Given the description of an element on the screen output the (x, y) to click on. 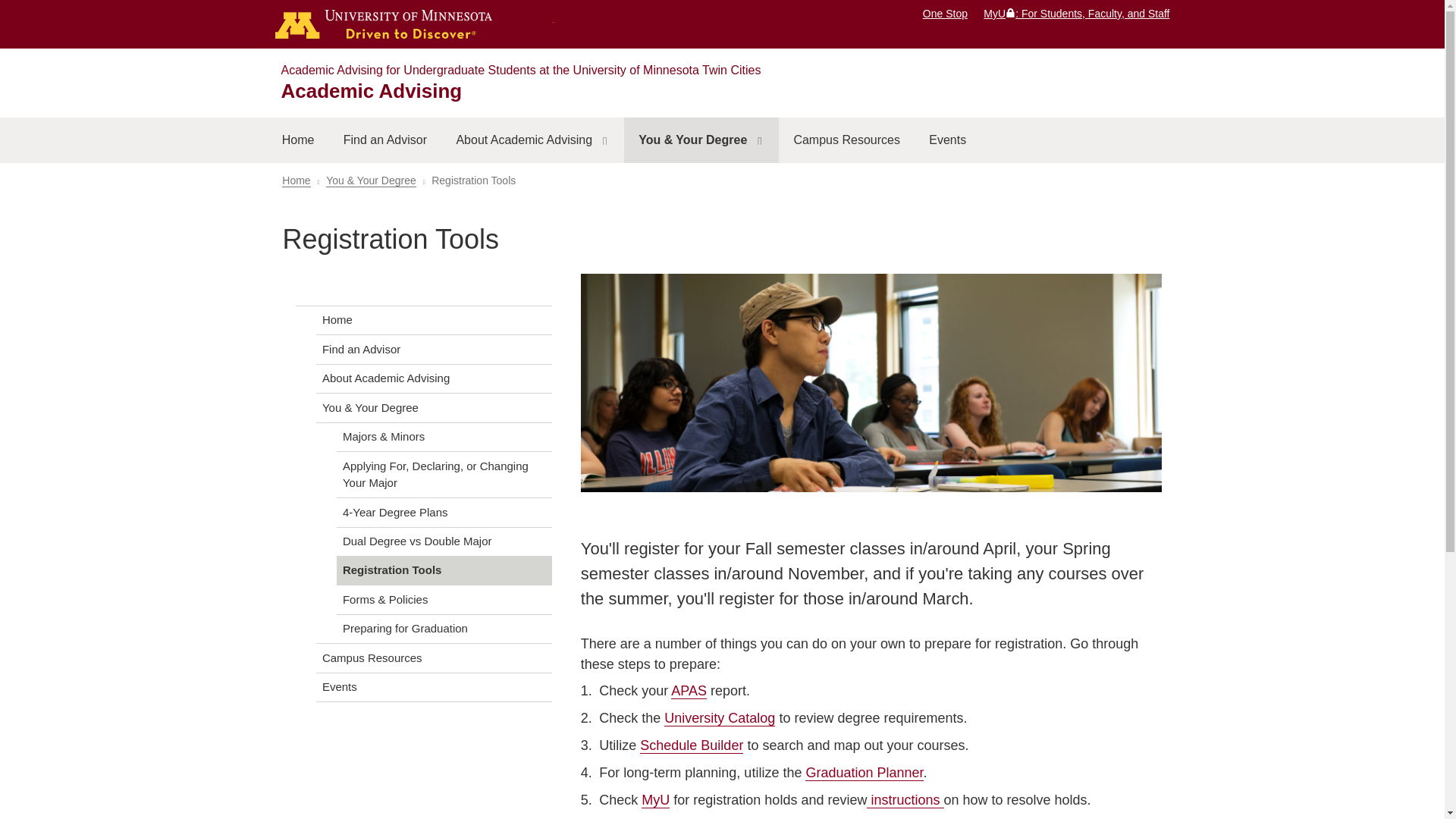
MyU: For Students, Faculty, and Staff (1076, 13)
classes (870, 382)
Find an Advisor (385, 139)
Academic Advising (371, 90)
One Stop (945, 13)
classes (870, 385)
Home (297, 139)
